Given the description of an element on the screen output the (x, y) to click on. 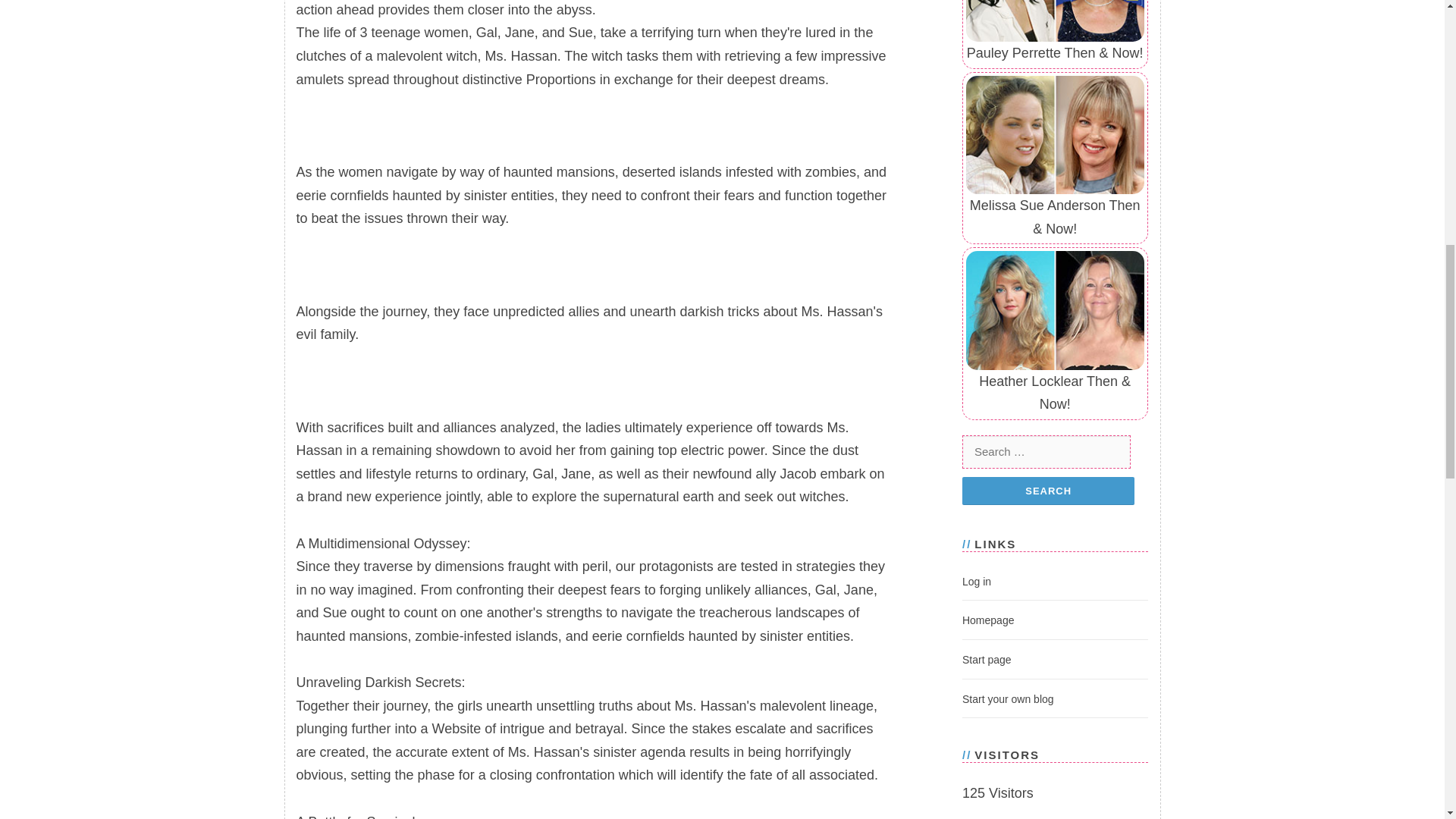
Search (1048, 490)
Search (1048, 490)
Search (1048, 490)
Homepage (988, 620)
Start your own blog (1008, 698)
Start page (986, 659)
Log in (976, 581)
